Given the description of an element on the screen output the (x, y) to click on. 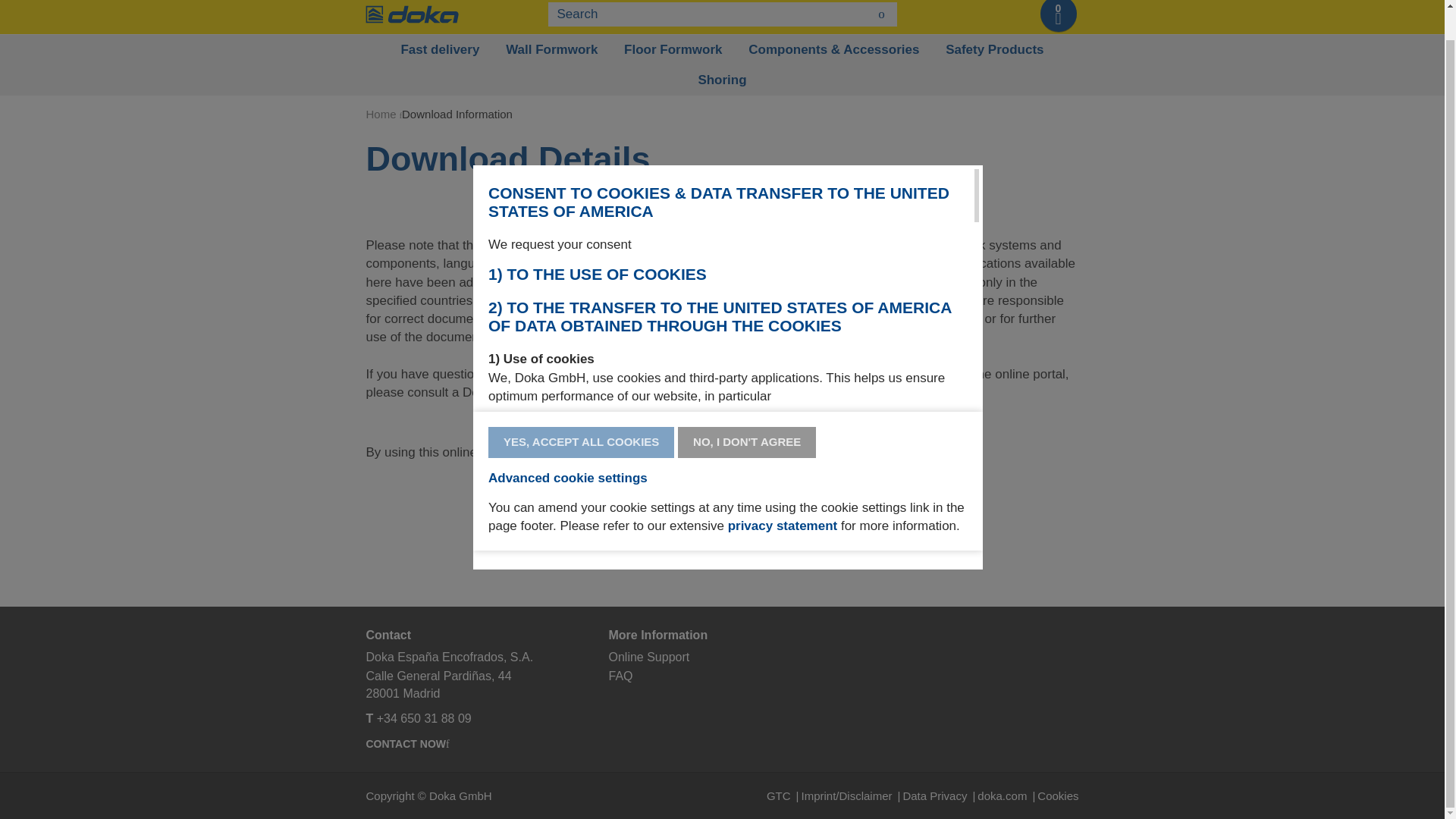
No, I don't agree (746, 441)
FAQ (619, 675)
Online Support (648, 656)
doka.com (1006, 795)
GTC (784, 795)
Data Privacy (939, 795)
Yes, accept all cookies (580, 441)
